Given the description of an element on the screen output the (x, y) to click on. 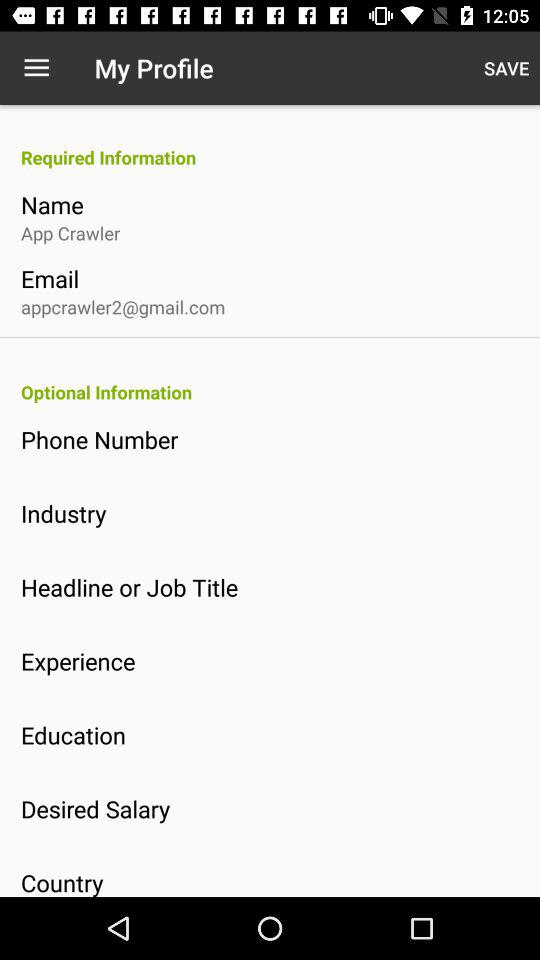
launch the icon to the left of the my profile item (36, 68)
